Given the description of an element on the screen output the (x, y) to click on. 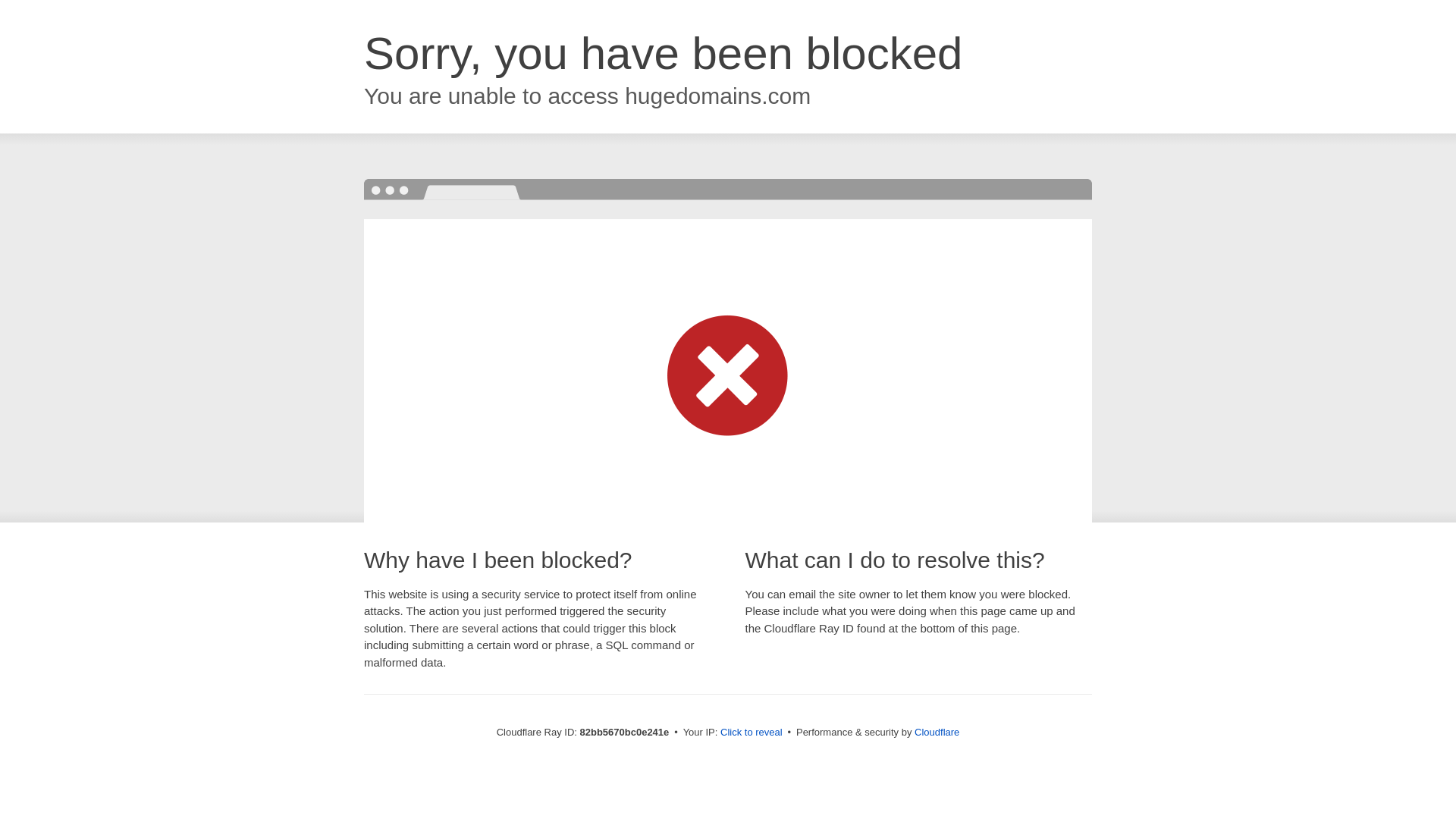
Cloudflare Element type: text (936, 731)
Click to reveal Element type: text (751, 732)
